Given the description of an element on the screen output the (x, y) to click on. 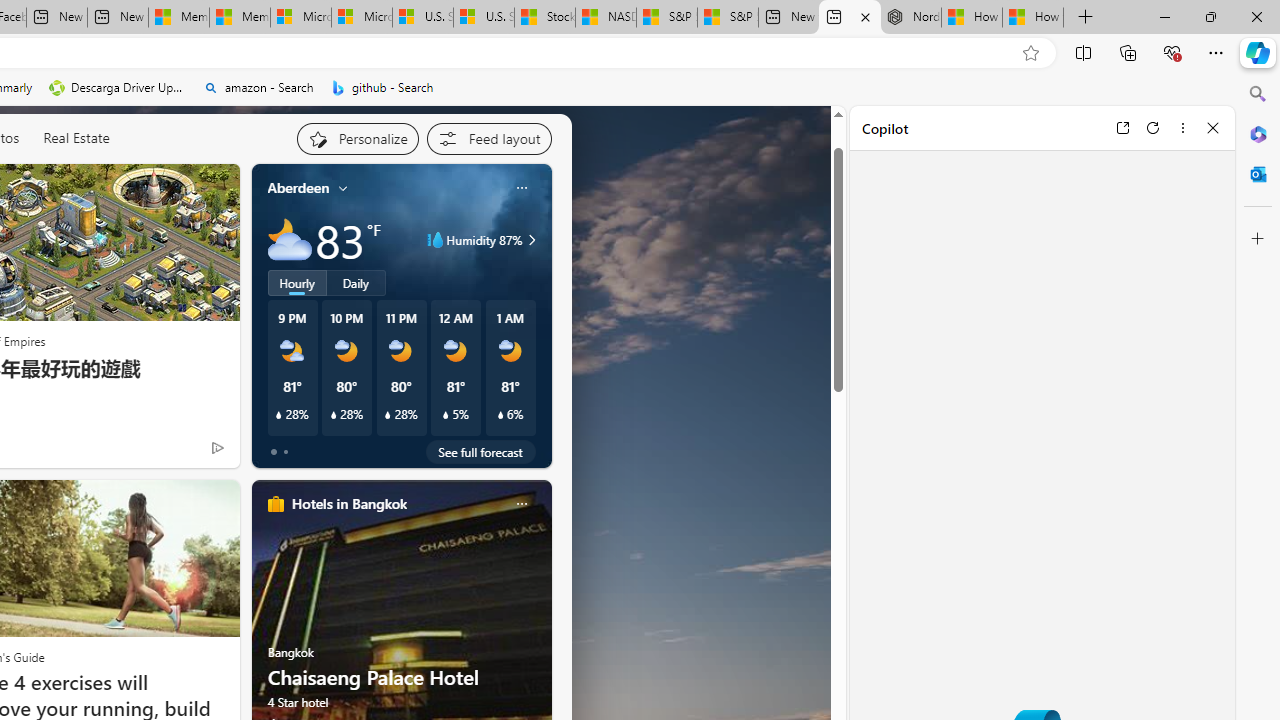
tab-0 (273, 451)
Descarga Driver Updater (118, 88)
My location (343, 187)
